Given the description of an element on the screen output the (x, y) to click on. 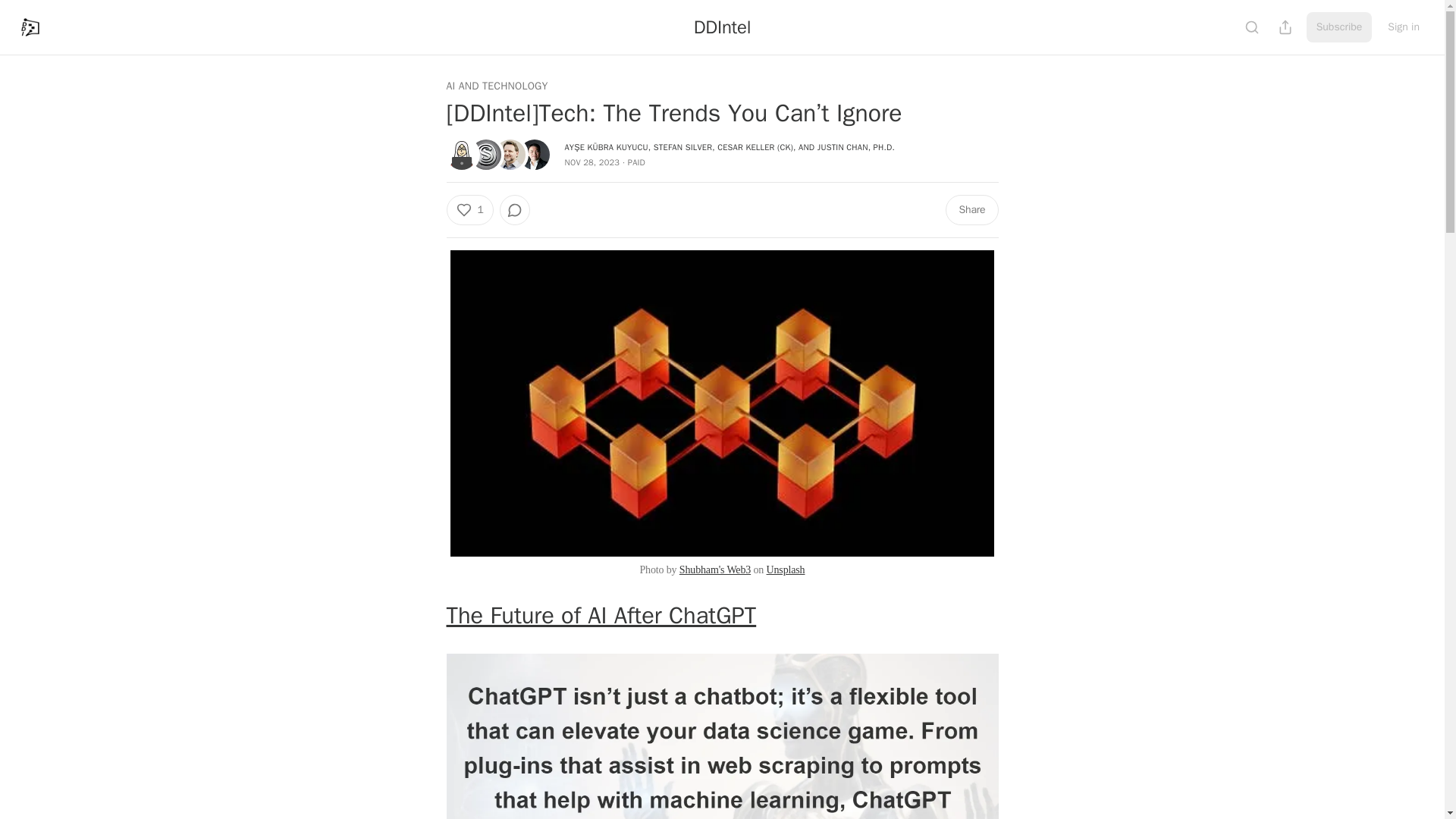
Share (970, 209)
Sign in (1403, 27)
Subscribe (1339, 27)
DDIntel (722, 26)
1 (469, 209)
Shubham's Web3 (715, 569)
The Future of AI After ChatGPT (600, 614)
JUSTIN CHAN, PH.D. (855, 146)
AI AND TECHNOLOGY (496, 86)
Unsplash (786, 569)
